Given the description of an element on the screen output the (x, y) to click on. 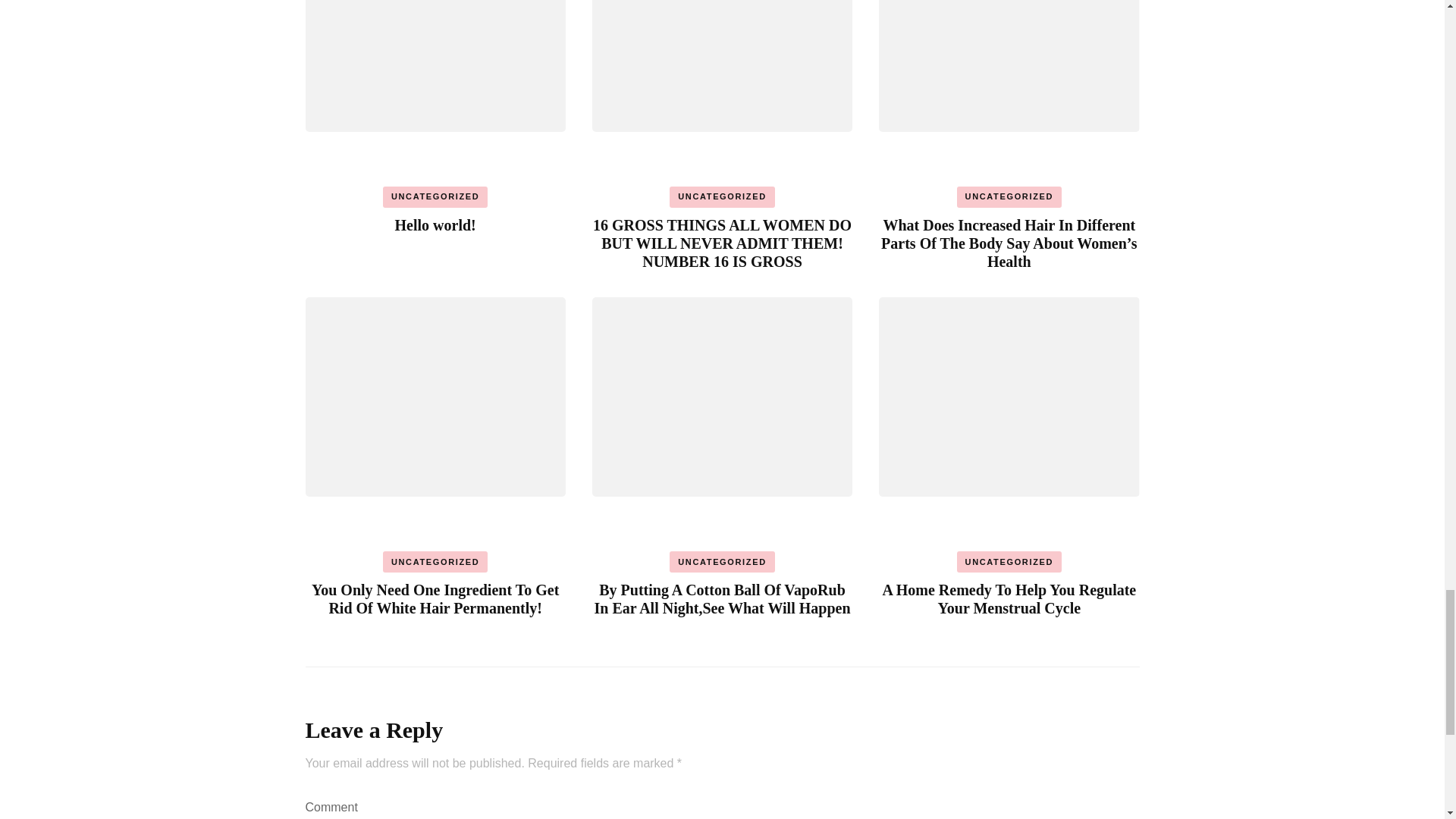
UNCATEGORIZED (721, 197)
UNCATEGORIZED (1009, 197)
UNCATEGORIZED (721, 561)
UNCATEGORIZED (434, 197)
Hello world! (435, 225)
UNCATEGORIZED (434, 561)
